Given the description of an element on the screen output the (x, y) to click on. 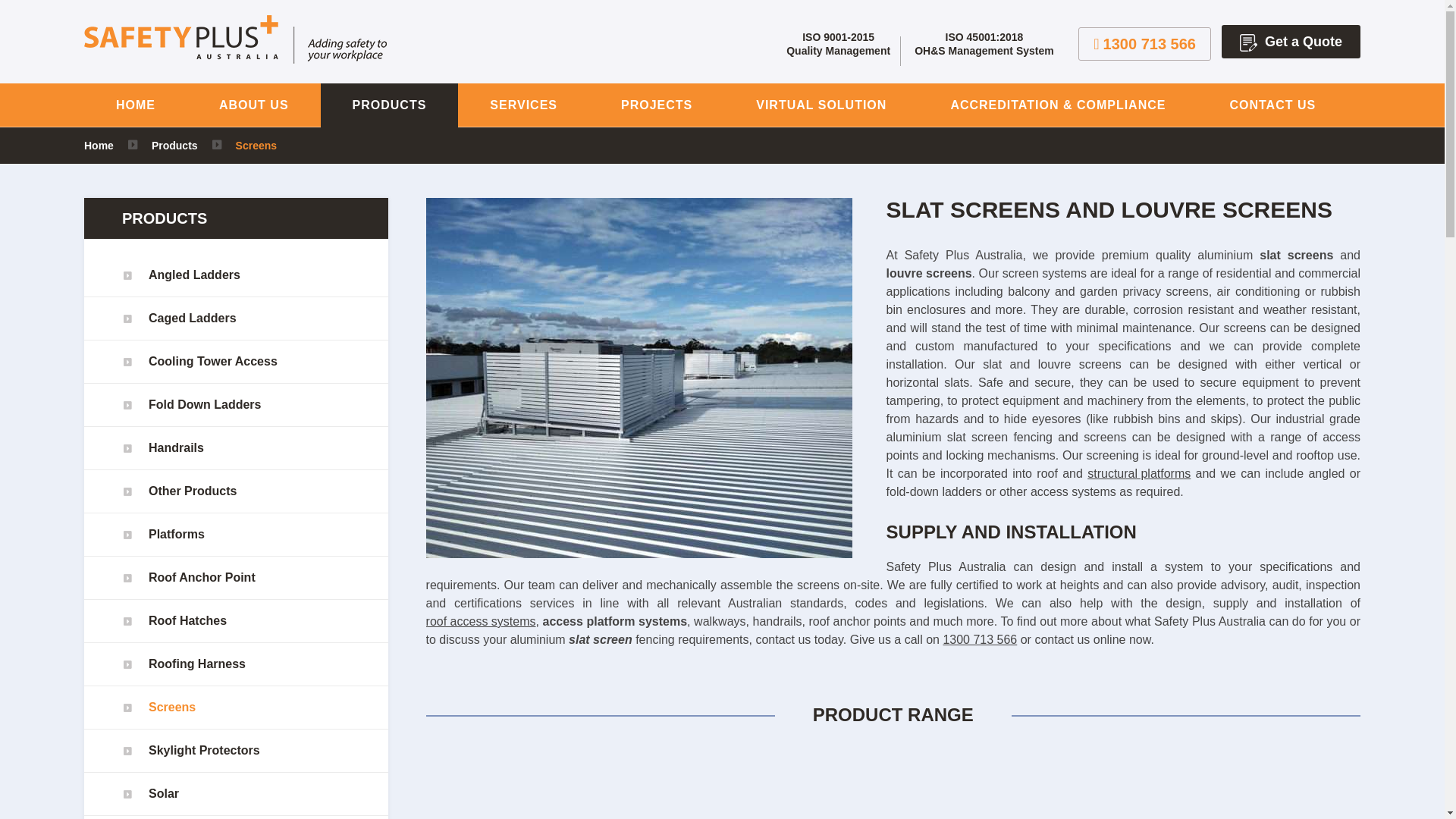
CONTACT US (1272, 105)
PRODUCTS (389, 105)
Products (174, 145)
Roof Access Systems (480, 621)
VIRTUAL SOLUTION (820, 105)
1300 713 566 (1144, 43)
ABOUT US (253, 105)
Access Platform Systems (1139, 474)
Get a Quote (1290, 41)
SERVICES (523, 105)
